Given the description of an element on the screen output the (x, y) to click on. 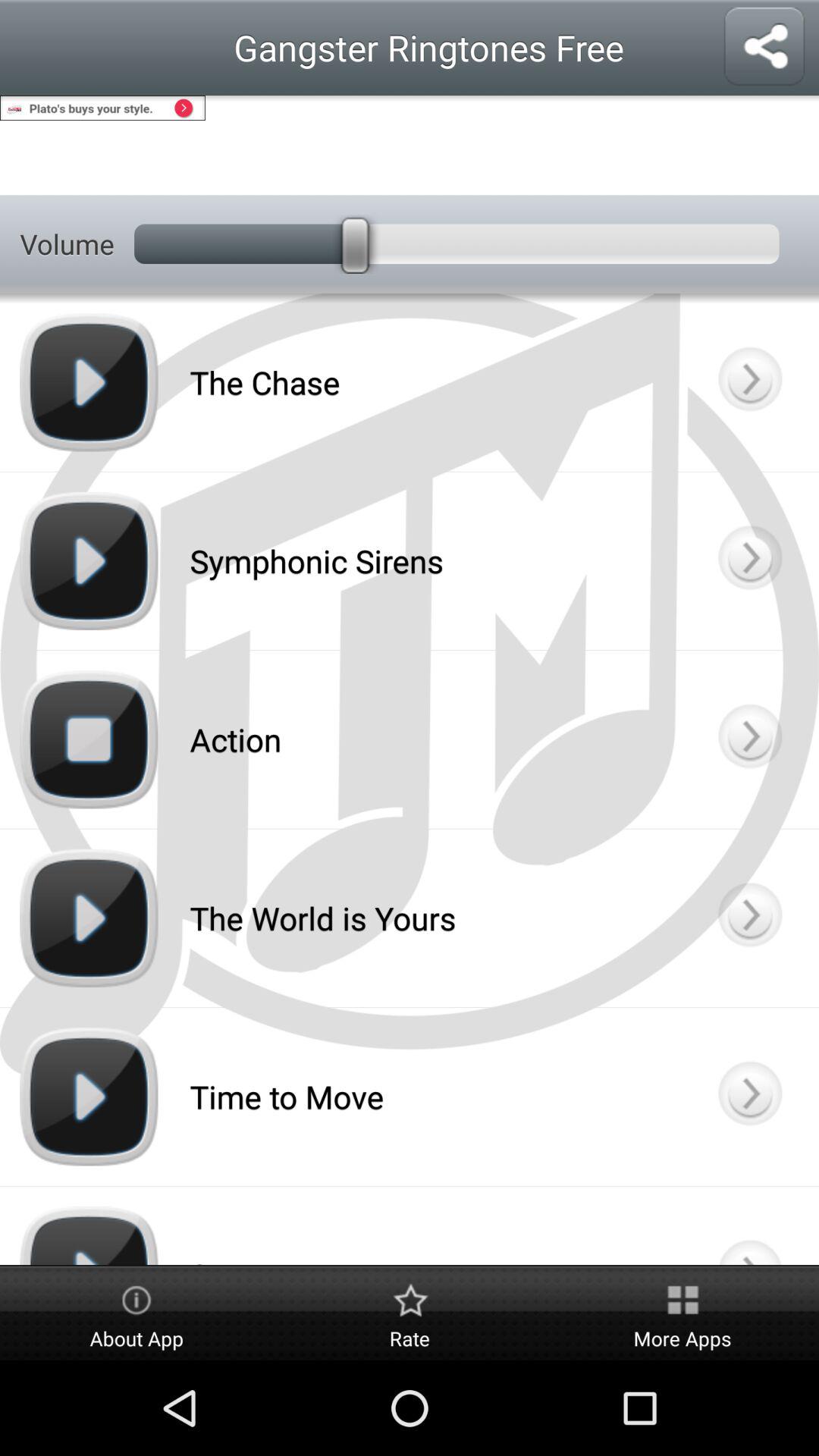
share (764, 47)
